Given the description of an element on the screen output the (x, y) to click on. 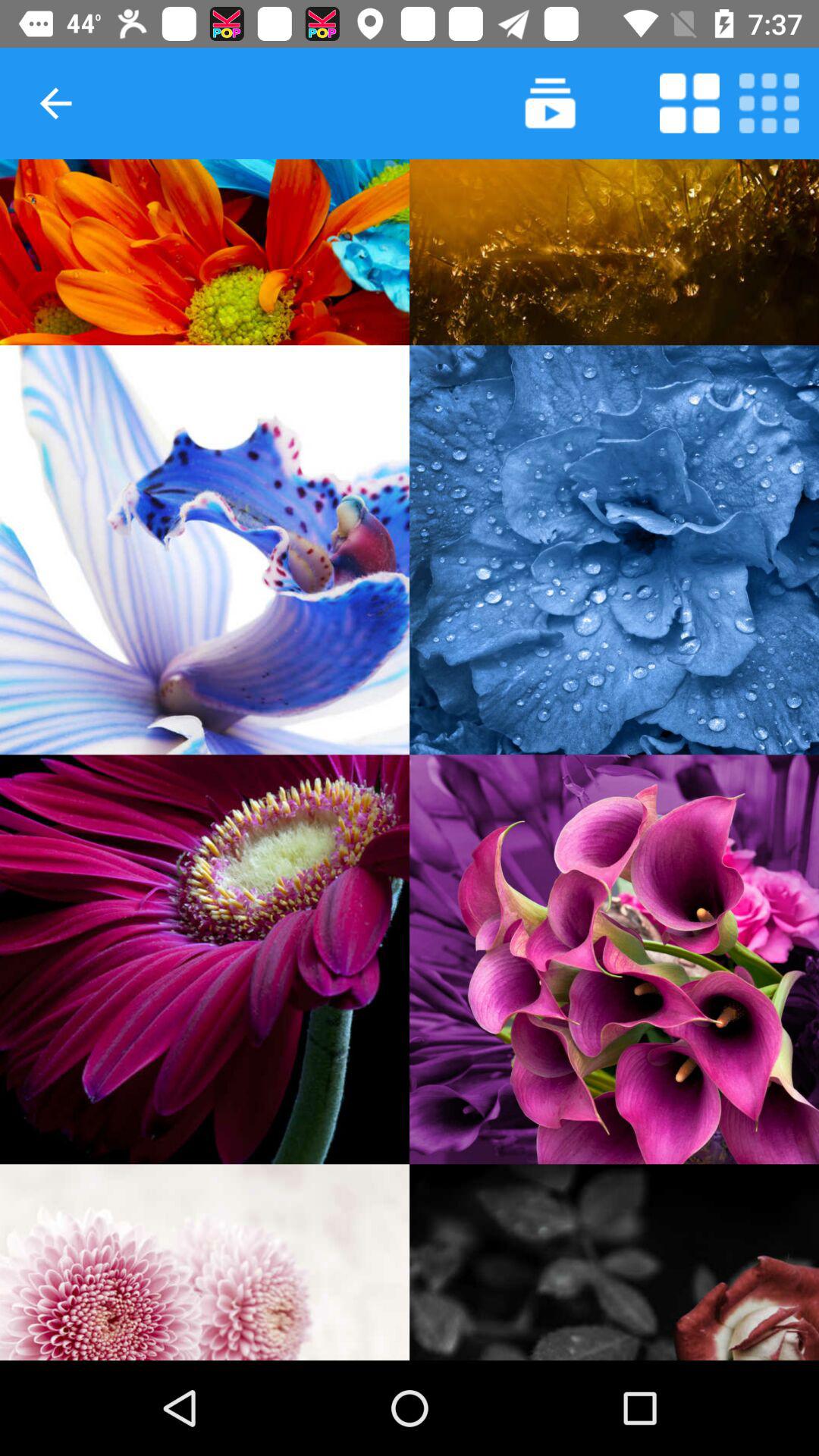
toggle grid (769, 103)
